Given the description of an element on the screen output the (x, y) to click on. 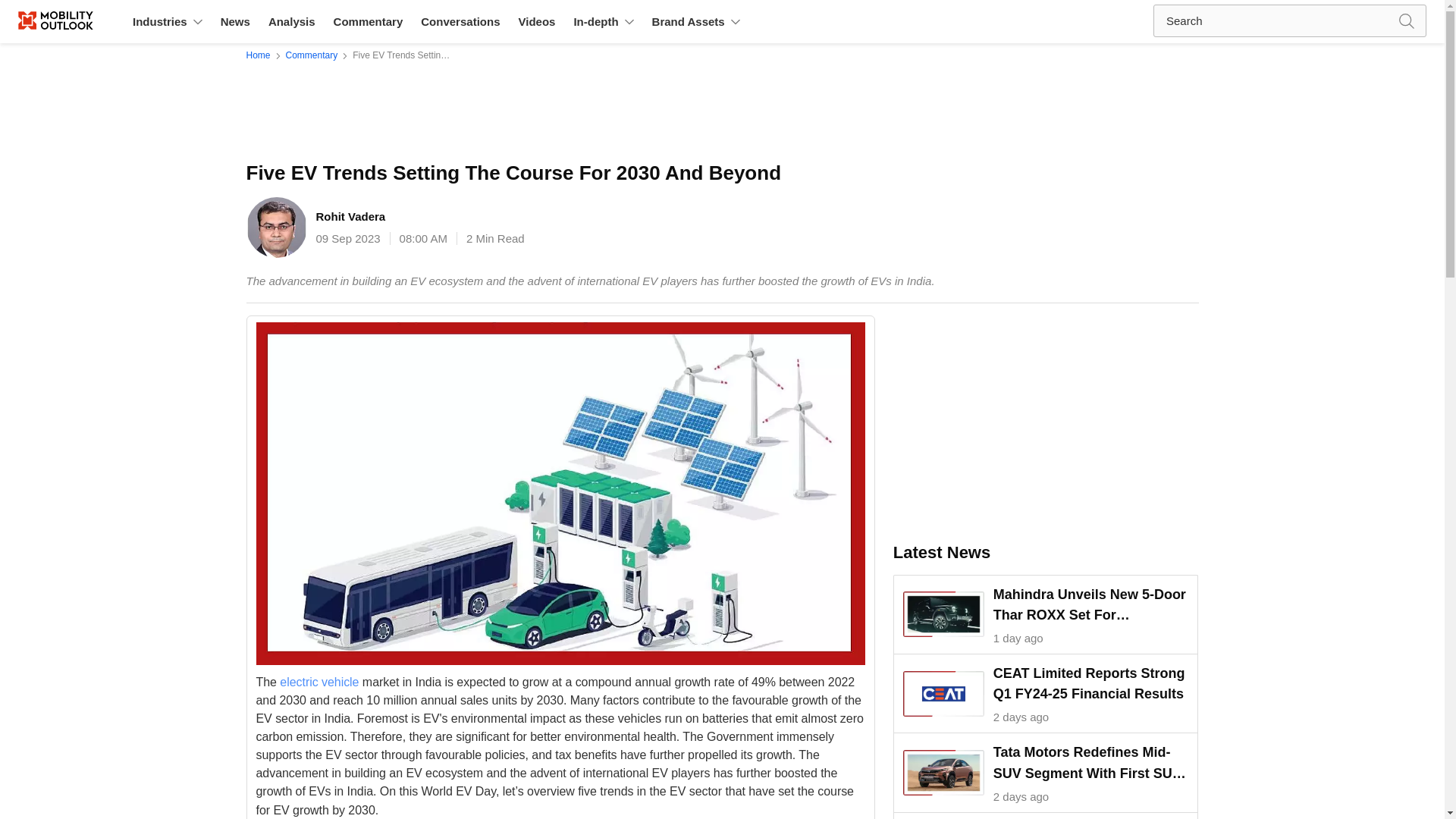
Analysis (291, 20)
Commentary (311, 54)
Videos (536, 20)
Analysis (291, 20)
Home (261, 54)
News (235, 20)
Commentary (368, 20)
Home (261, 54)
electric vehicle (318, 680)
News (235, 20)
Mobility OutLook (70, 21)
commentary (311, 54)
